Given the description of an element on the screen output the (x, y) to click on. 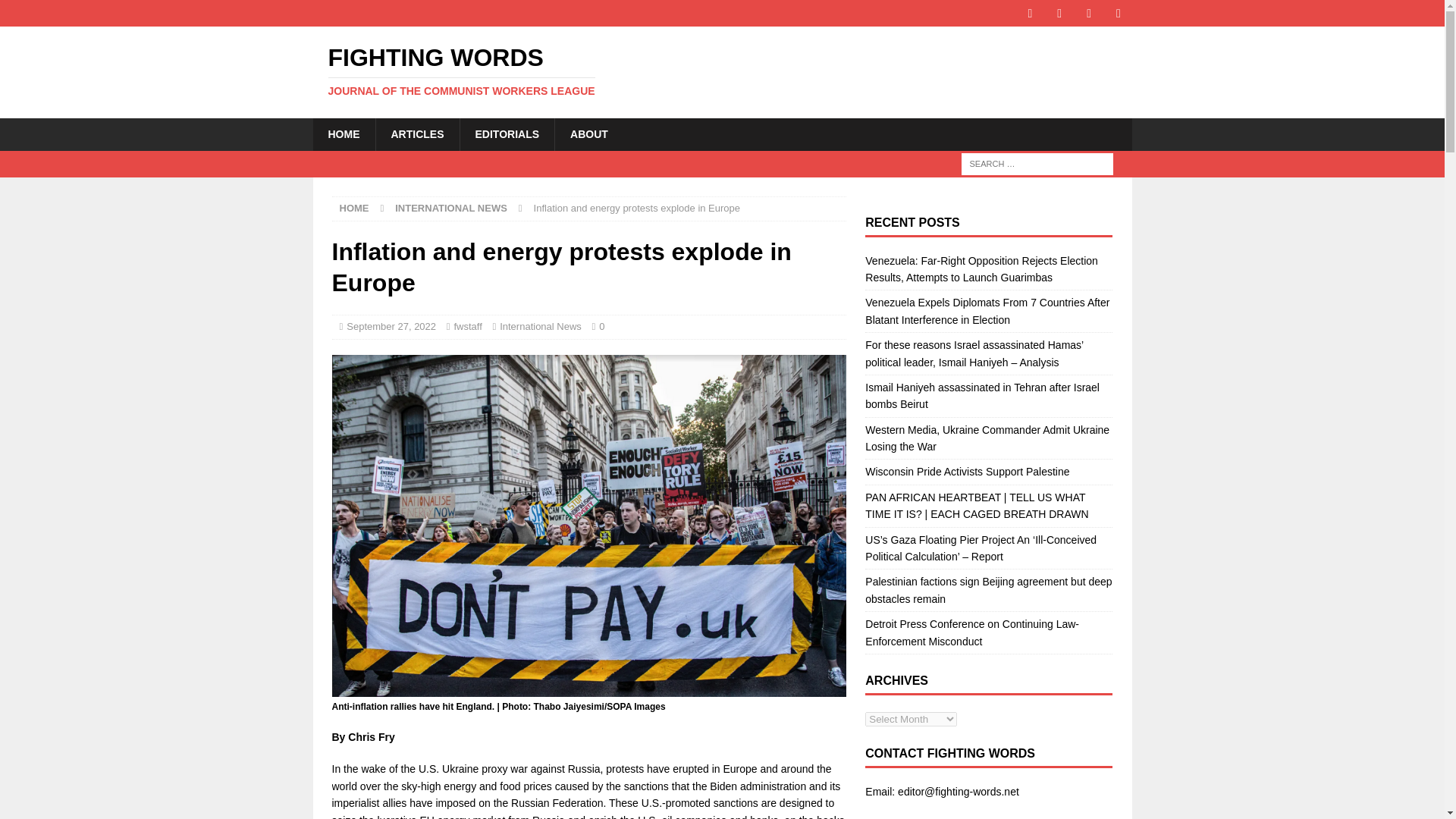
ABOUT (588, 133)
September 27, 2022 (390, 326)
INTERNATIONAL NEWS (450, 207)
EDITORIALS (507, 133)
Search (56, 11)
fwstaff (721, 71)
HOME (466, 326)
ARTICLES (354, 207)
International News (416, 133)
HOME (539, 326)
Fighting Words (343, 133)
